Given the description of an element on the screen output the (x, y) to click on. 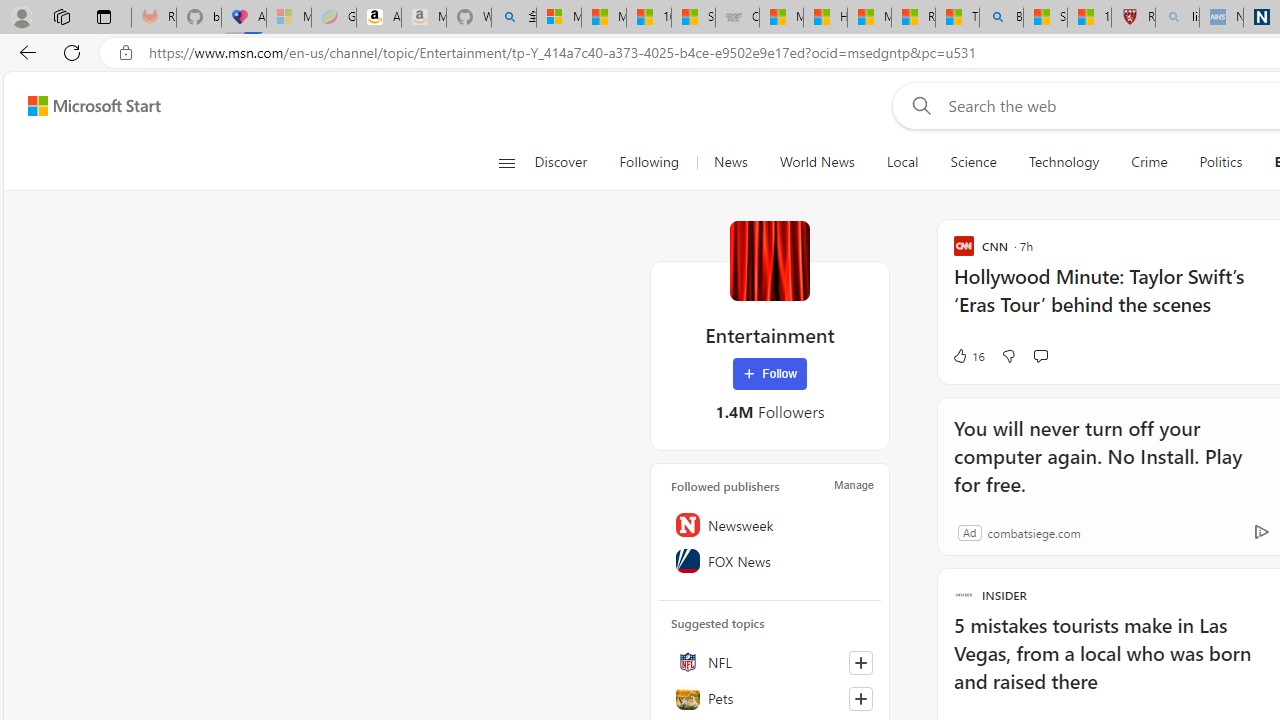
Bing (1001, 17)
Technology (1064, 162)
Entertainment (769, 260)
World News (817, 162)
Science (973, 162)
Follow this topic (860, 698)
Newsweek (770, 525)
